Given the description of an element on the screen output the (x, y) to click on. 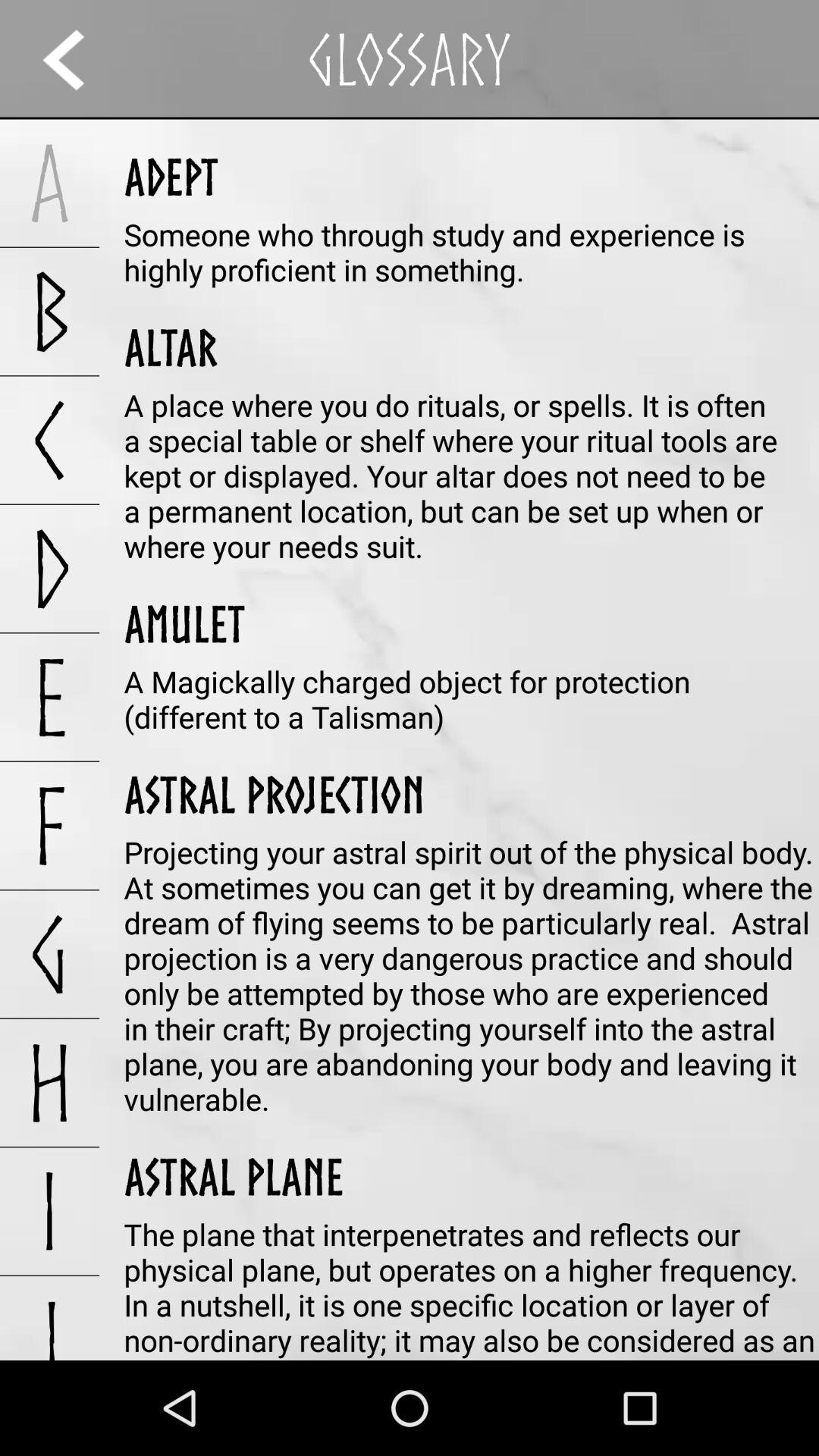
jump until the d (49, 568)
